Given the description of an element on the screen output the (x, y) to click on. 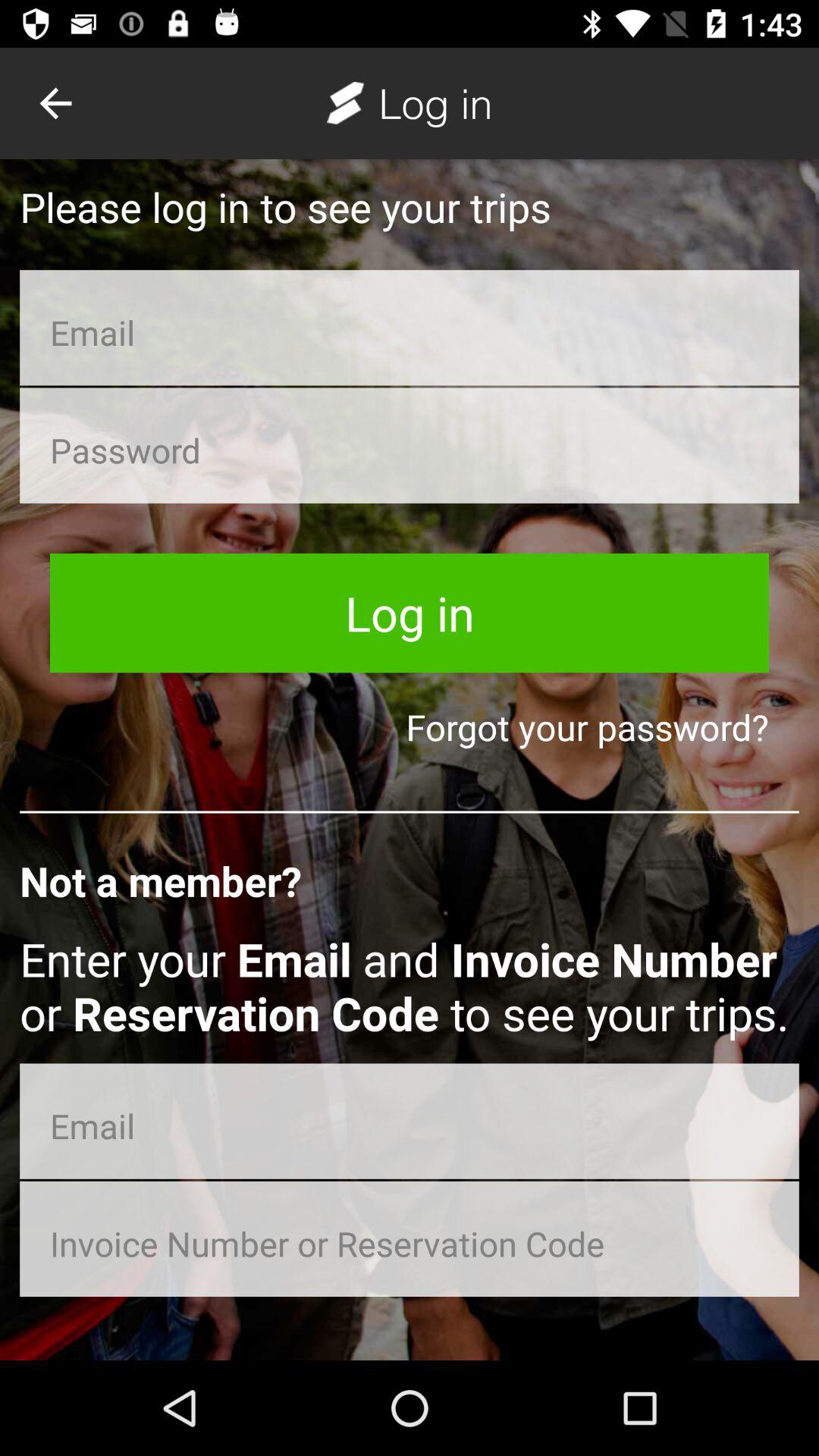
launch forgot your password? item (409, 726)
